Given the description of an element on the screen output the (x, y) to click on. 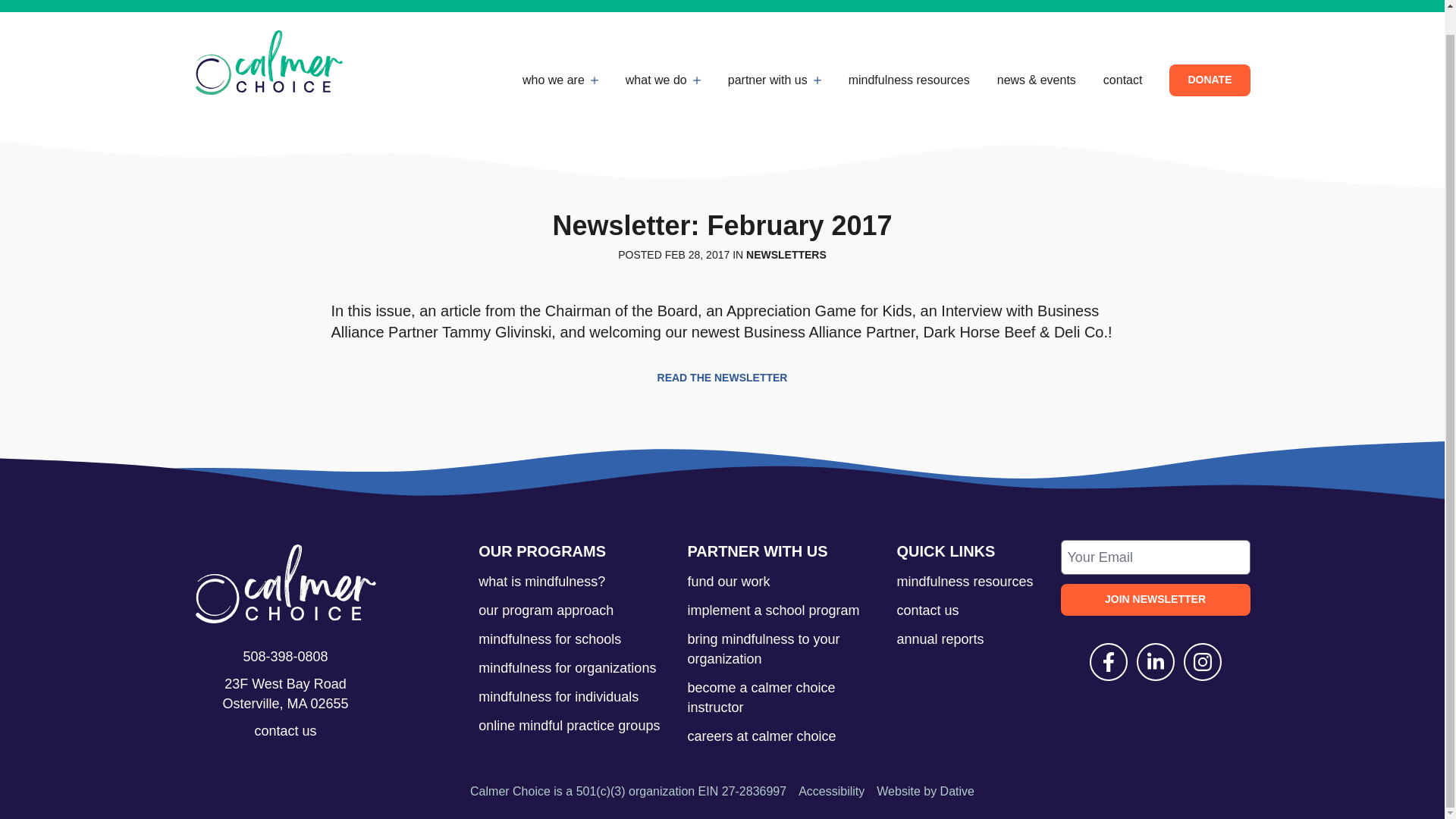
our program approach (545, 610)
mindfulness for organizations (567, 667)
mindfulness resources (908, 80)
what we do (663, 80)
mindfulness for individuals (559, 696)
what is mindfulness? (542, 581)
Calmer Choice home page (267, 62)
contact (1122, 80)
508-398-0808 (285, 656)
partner with us (774, 80)
